Given the description of an element on the screen output the (x, y) to click on. 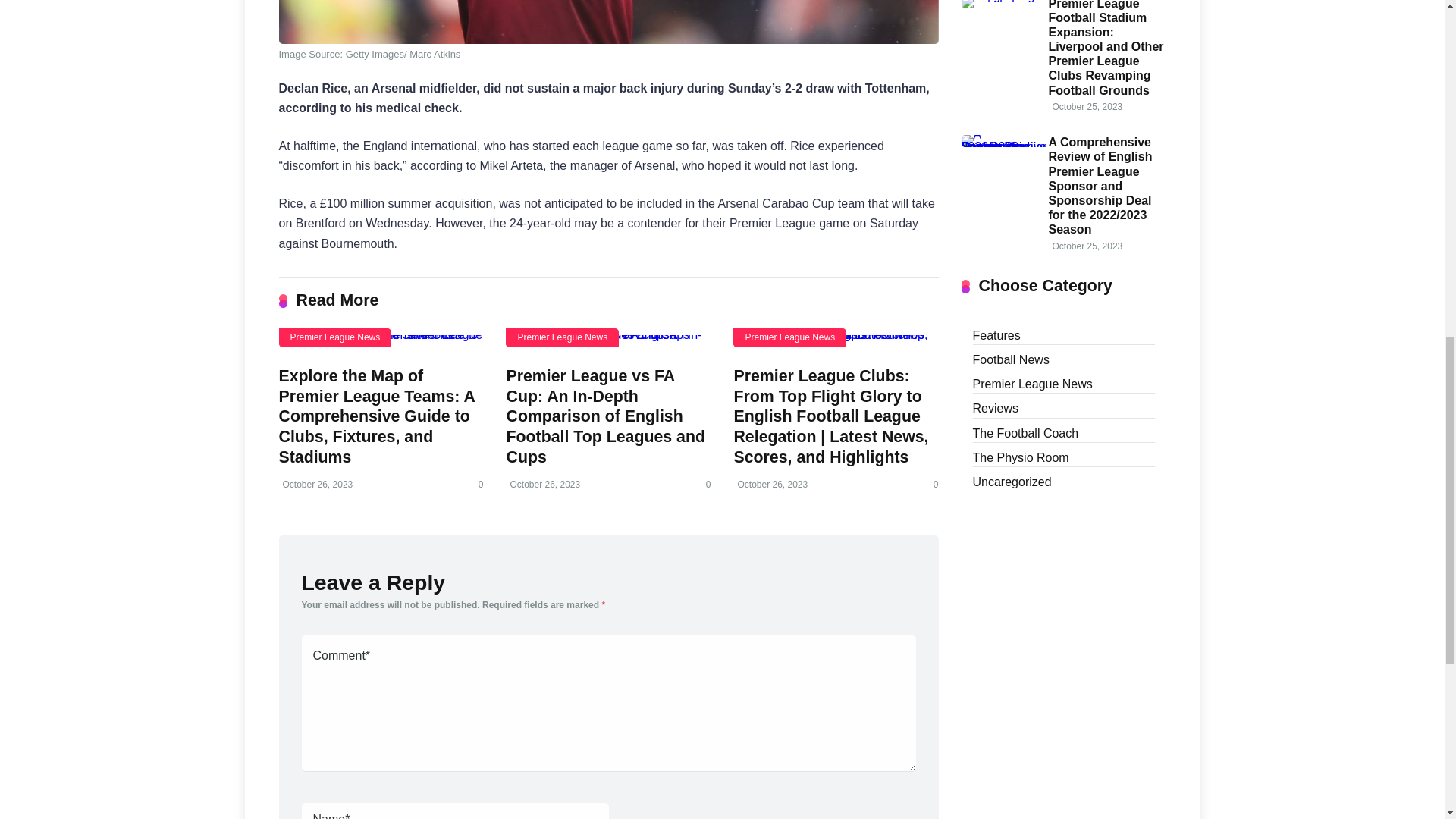
Premier League News (335, 337)
Premier League News (789, 337)
Premier League News (561, 337)
Premier League News (1032, 382)
Features (996, 333)
Football News (1010, 358)
